Given the description of an element on the screen output the (x, y) to click on. 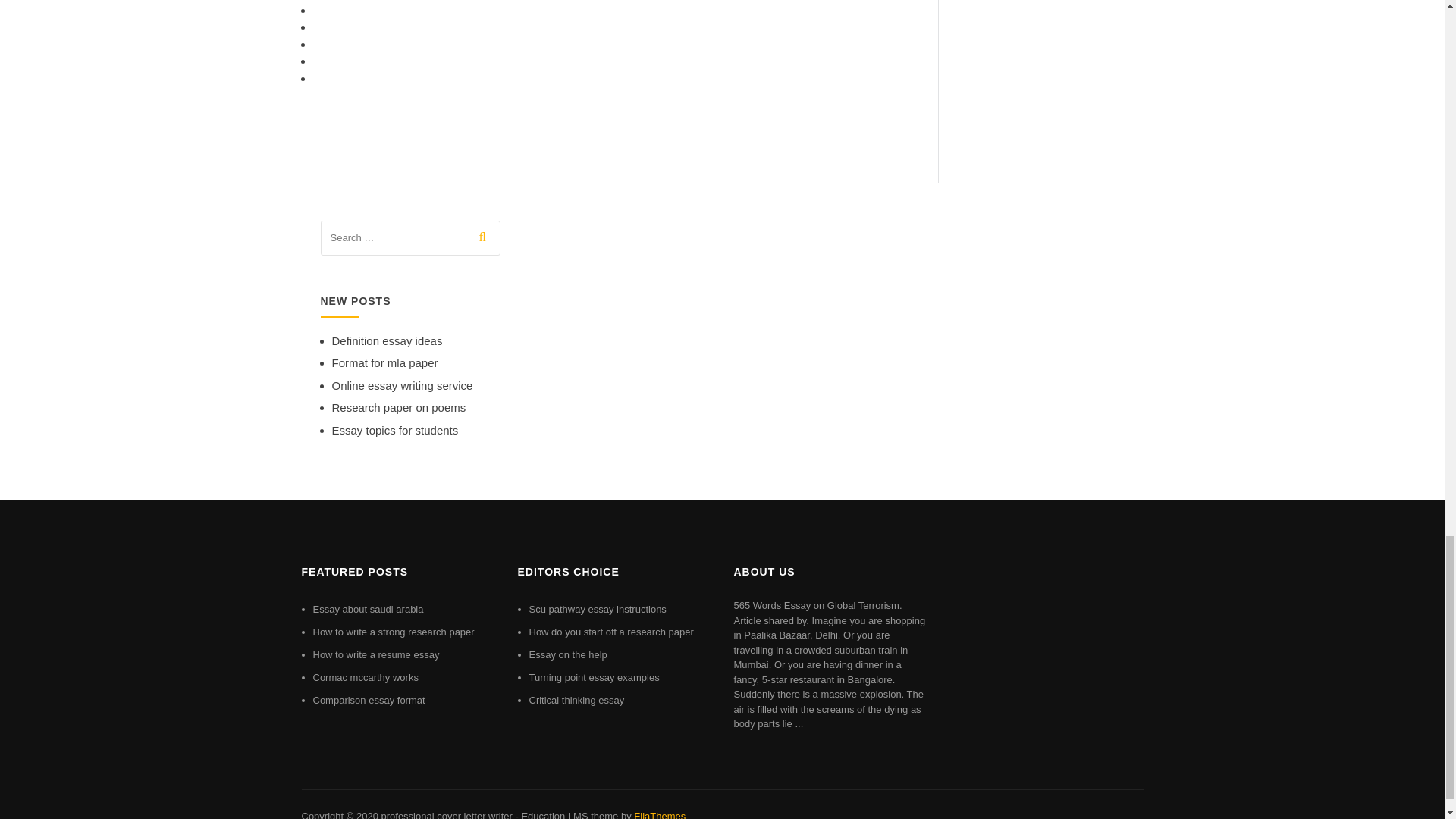
Online essay writing service (402, 385)
Turning point essay examples (594, 677)
Scu pathway essay instructions (597, 609)
Cormac mccarthy works (365, 677)
Essay about saudi arabia (368, 609)
How to write a resume essay (376, 654)
professional cover letter writer (446, 814)
Essay on the help (568, 654)
Essay topics for students (394, 430)
How do you start off a research paper (611, 632)
